Given the description of an element on the screen output the (x, y) to click on. 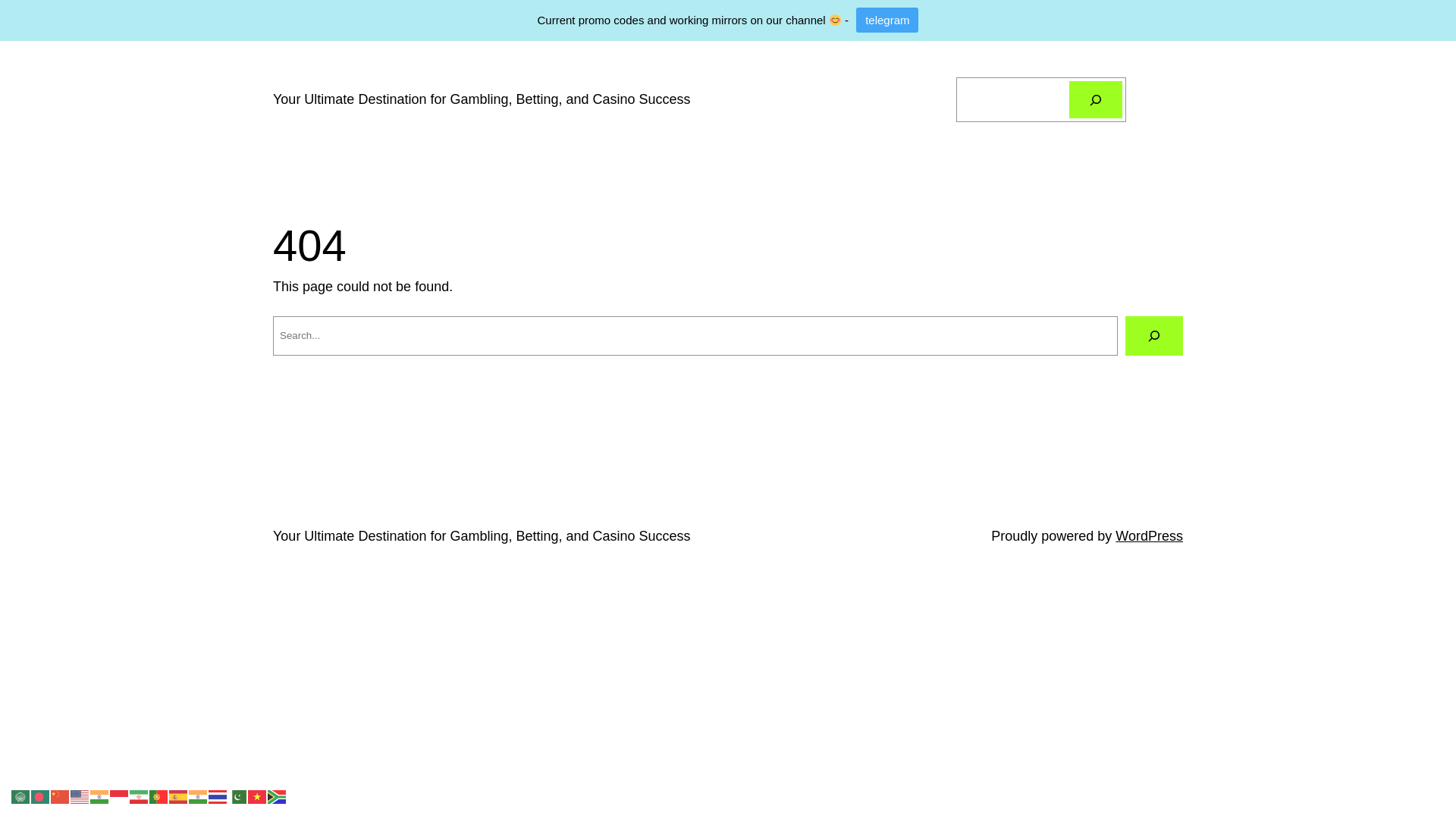
Zulu Element type: hover (277, 795)
Vietnamese Element type: hover (257, 795)
Portuguese Element type: hover (159, 795)
Indonesian Element type: hover (119, 795)
English Element type: hover (80, 795)
telegram Element type: text (887, 19)
Telugu Element type: hover (198, 795)
Spanish Element type: hover (178, 795)
Arabic Element type: hover (21, 795)
WordPress Element type: text (1149, 535)
Hindi Element type: hover (99, 795)
Bengali Element type: hover (40, 795)
Chinese (Simplified) Element type: hover (60, 795)
Persian Element type: hover (139, 795)
Urdu Element type: hover (237, 795)
Thai Element type: hover (218, 795)
